Given the description of an element on the screen output the (x, y) to click on. 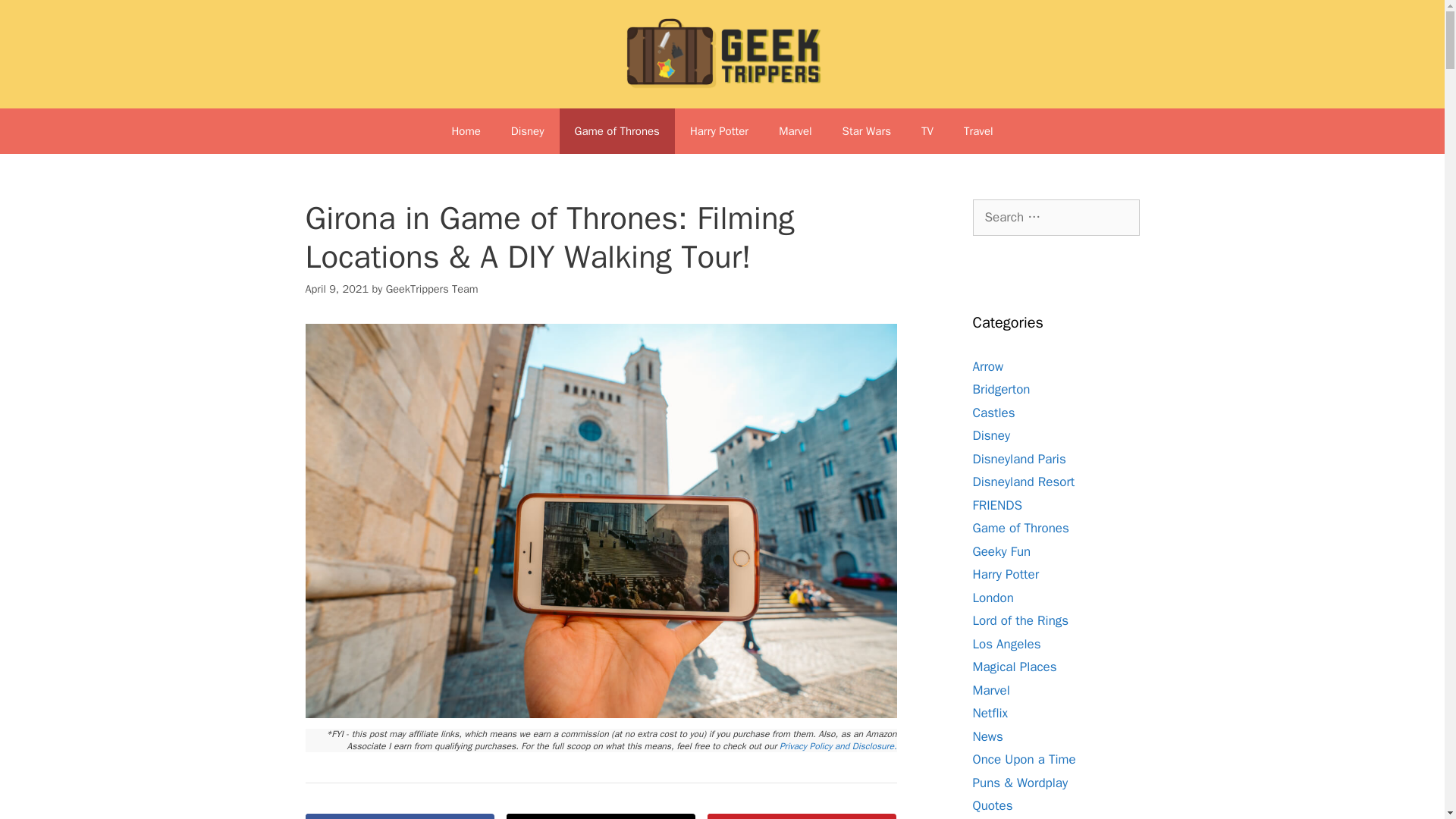
Harry Potter (718, 130)
Geeky Fun (1001, 551)
FRIENDS (997, 505)
Save to Pinterest (801, 816)
Tweet (600, 816)
Disney (991, 435)
Star Wars (866, 130)
Share (399, 816)
Game of Thrones (1020, 528)
Game of Thrones (617, 130)
